Given the description of an element on the screen output the (x, y) to click on. 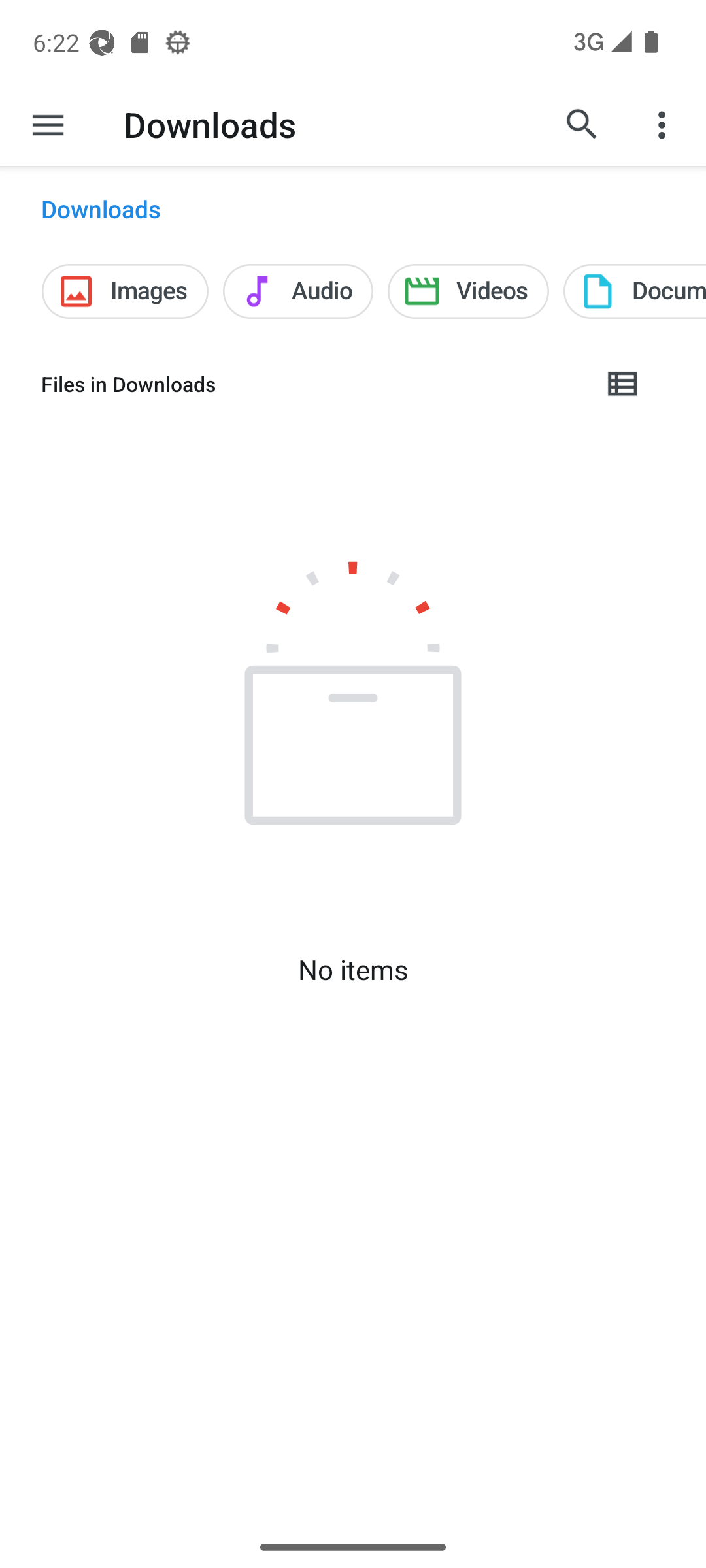
Show roots (48, 124)
Search (581, 124)
More options (664, 124)
Images (124, 291)
Audio (298, 291)
Videos (468, 291)
Documents (634, 291)
List view (623, 383)
